Given the description of an element on the screen output the (x, y) to click on. 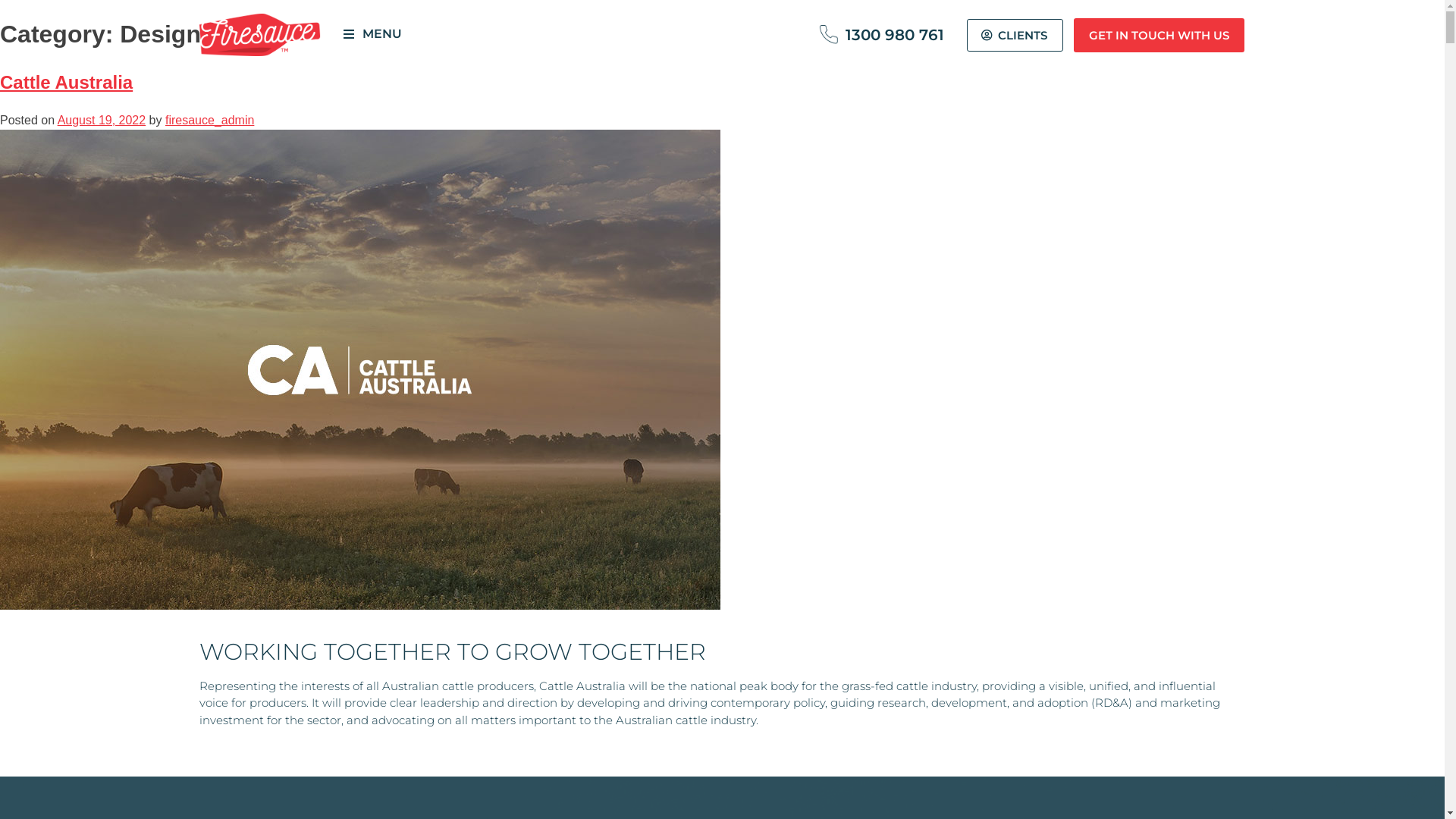
GET IN TOUCH WITH US Element type: text (1158, 35)
CLIENTS Element type: text (1014, 34)
MENU Element type: text (371, 34)
firesauce_admin Element type: text (209, 119)
Cattle Australia Element type: text (66, 82)
August 19, 2022 Element type: text (101, 119)
